Given the description of an element on the screen output the (x, y) to click on. 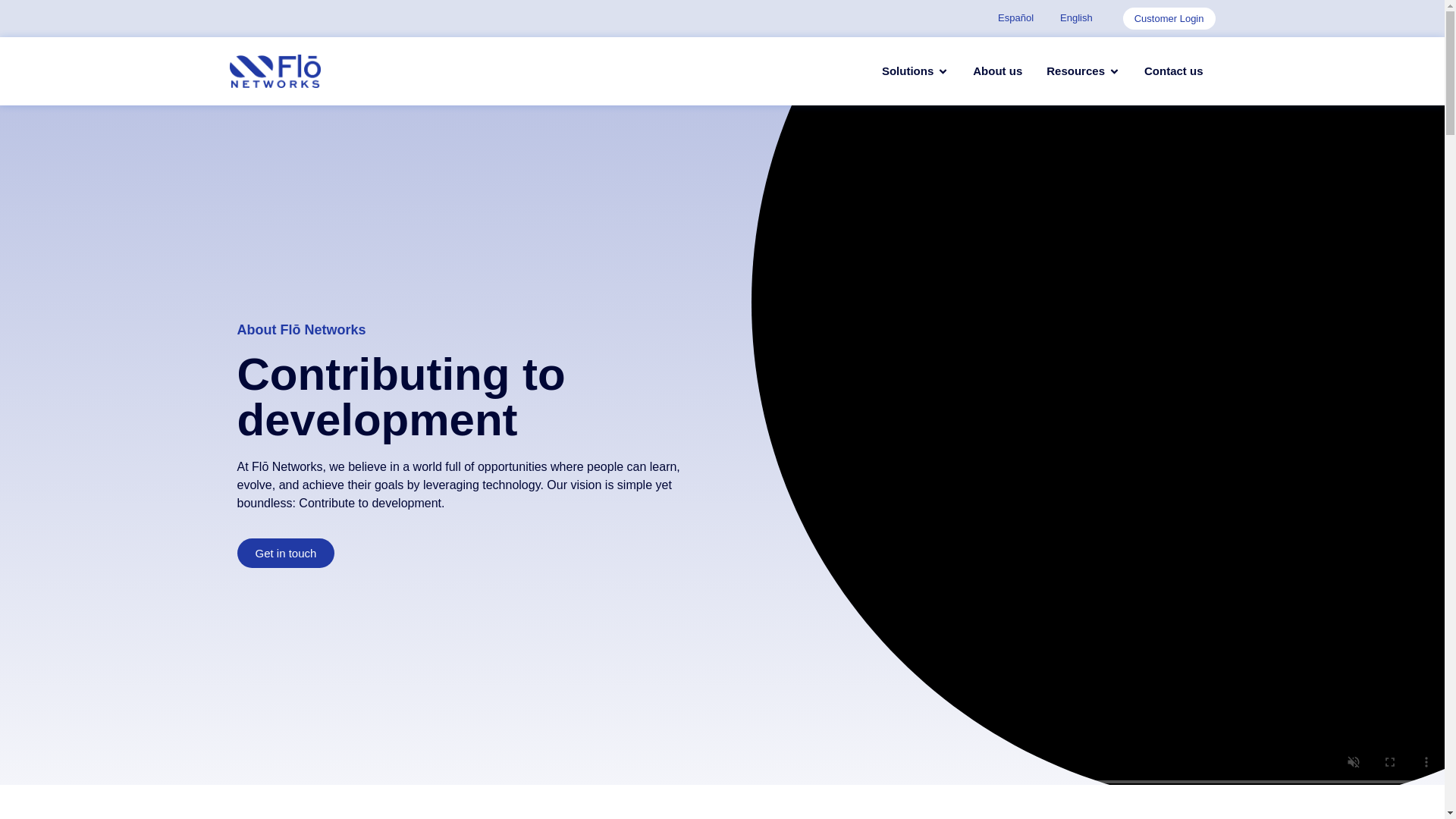
Customer Login (1168, 18)
Solutions (907, 71)
English (1072, 17)
About us (997, 71)
Contact us (1174, 71)
Get in touch (284, 553)
